Given the description of an element on the screen output the (x, y) to click on. 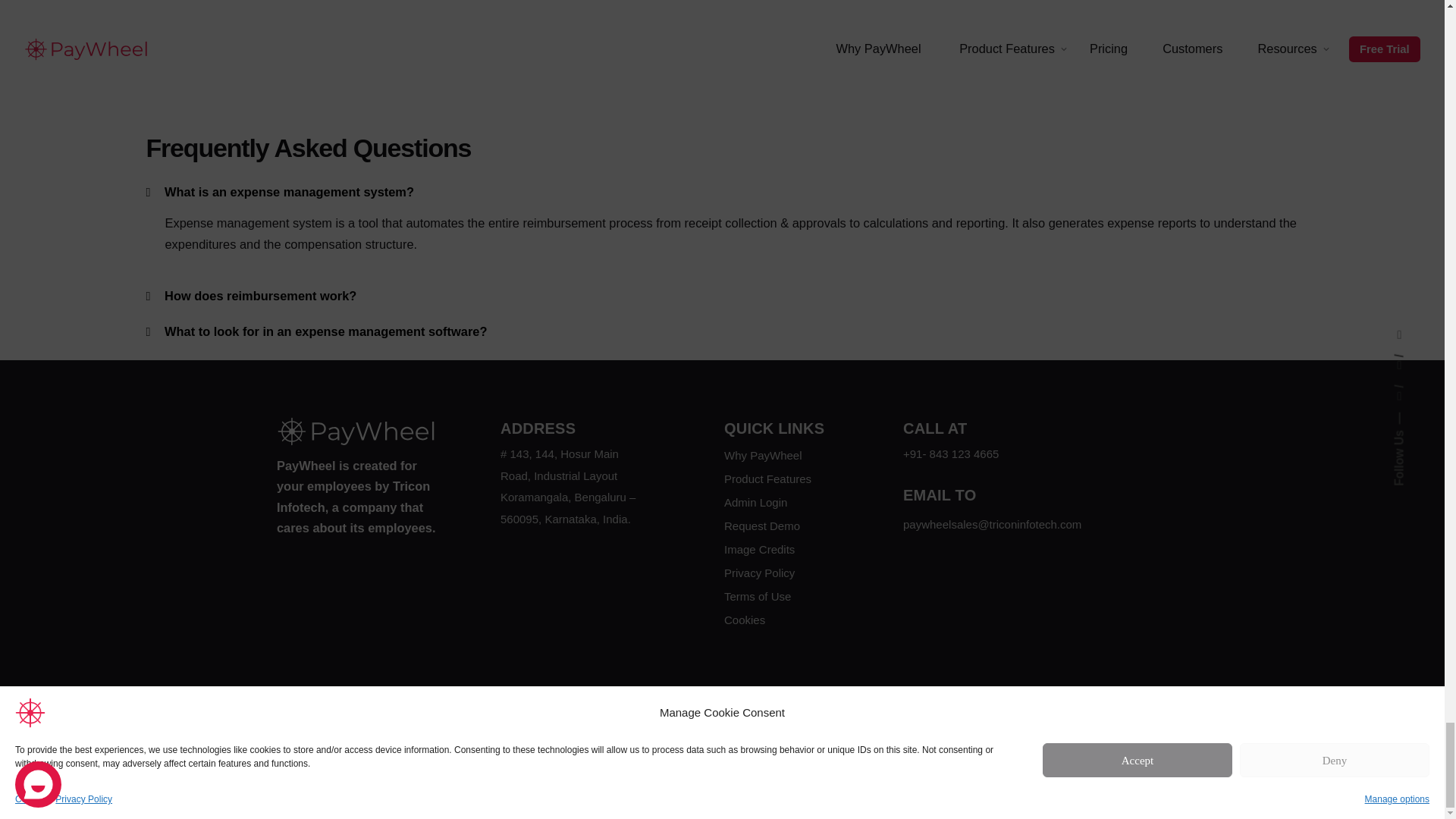
Explanation of WCAG 2 Level AA conformance (1030, 708)
